Given the description of an element on the screen output the (x, y) to click on. 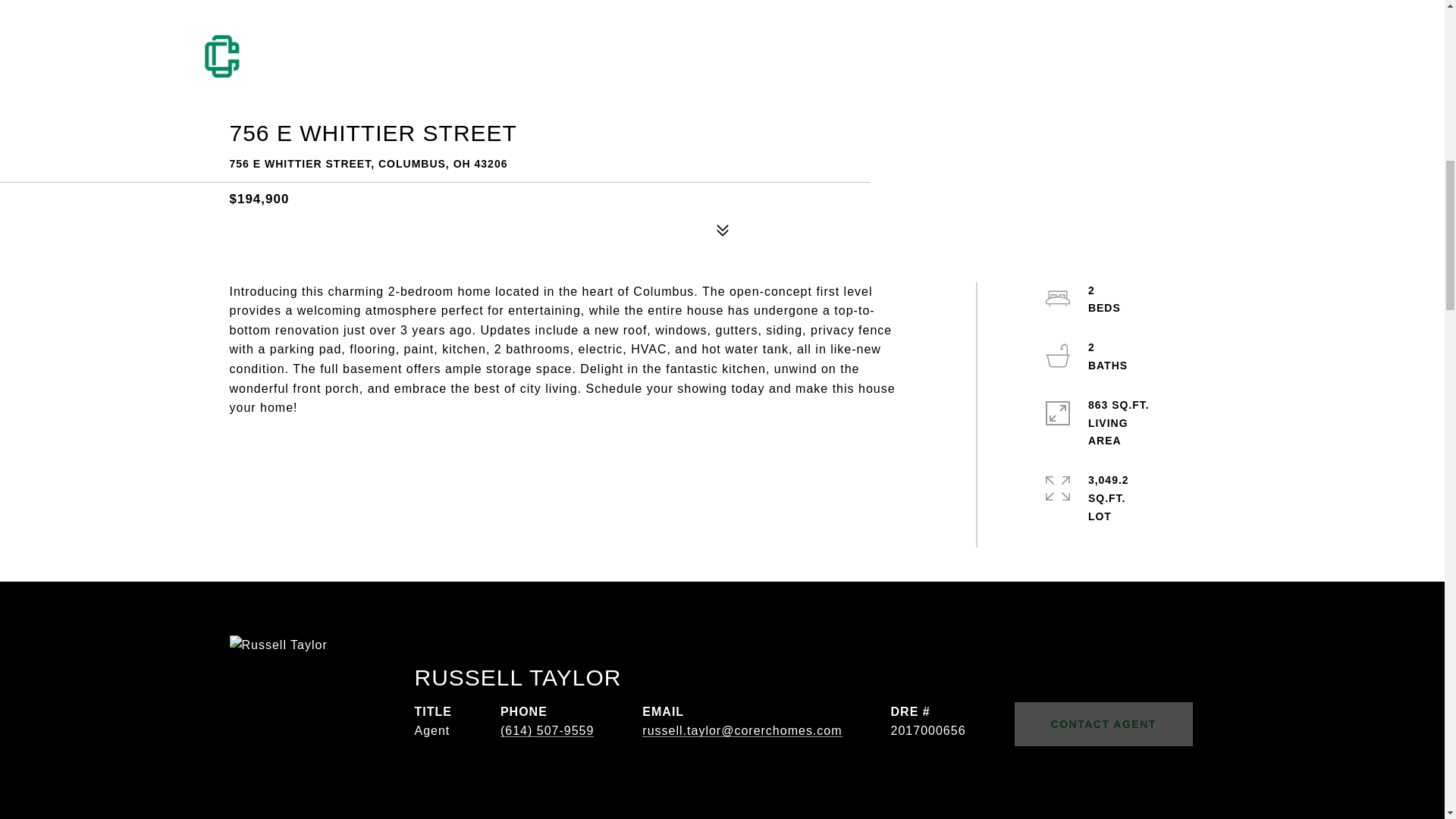
CONTACT AGENT (1103, 723)
